Given the description of an element on the screen output the (x, y) to click on. 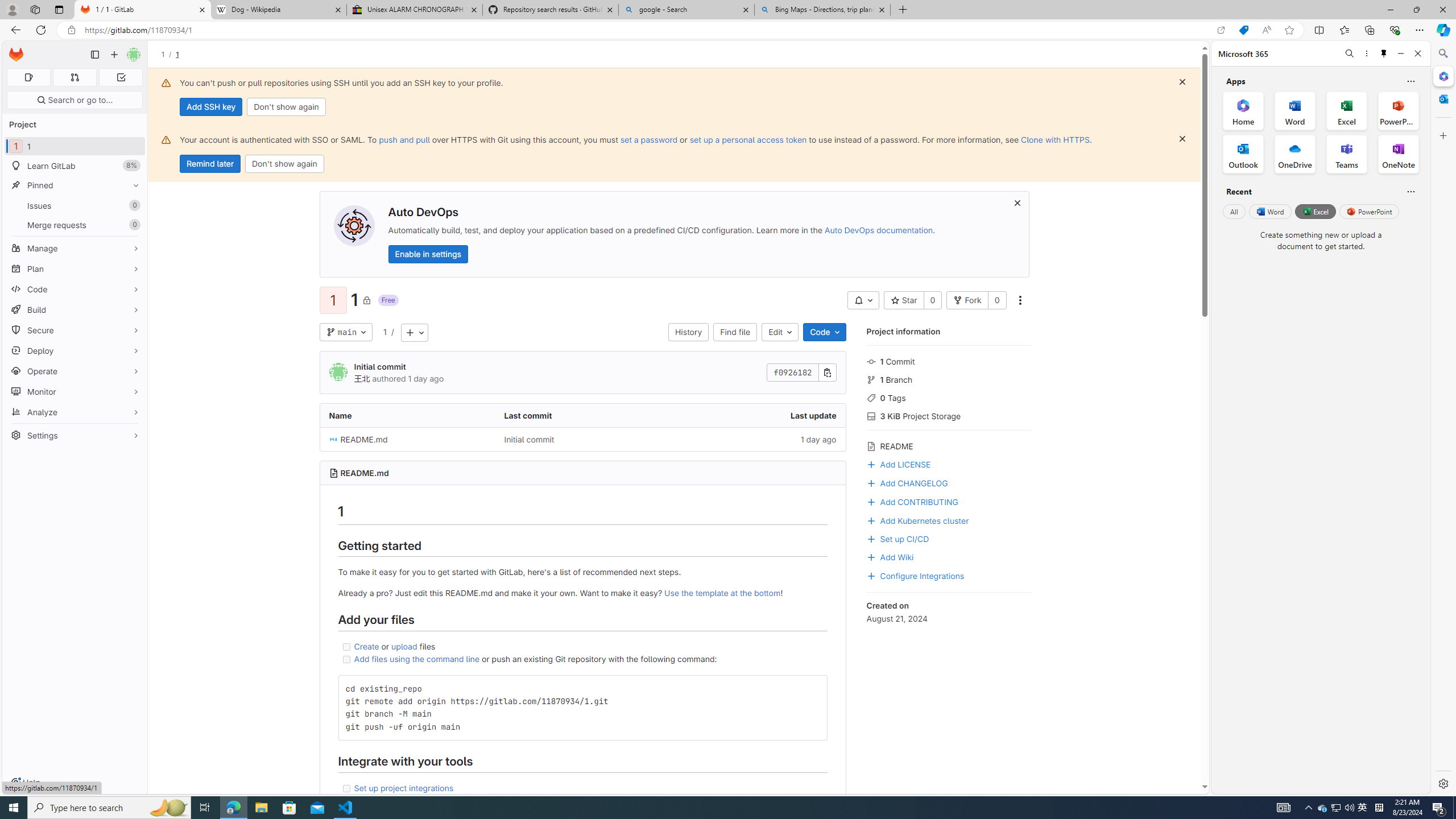
README (948, 444)
Create (366, 646)
Secure (74, 330)
Add files using the command line (416, 659)
Plan (74, 268)
All (1233, 210)
Excel Office App (1346, 110)
Set up CI/CD (948, 537)
Plan (74, 268)
Add CHANGELOG (948, 482)
